Given the description of an element on the screen output the (x, y) to click on. 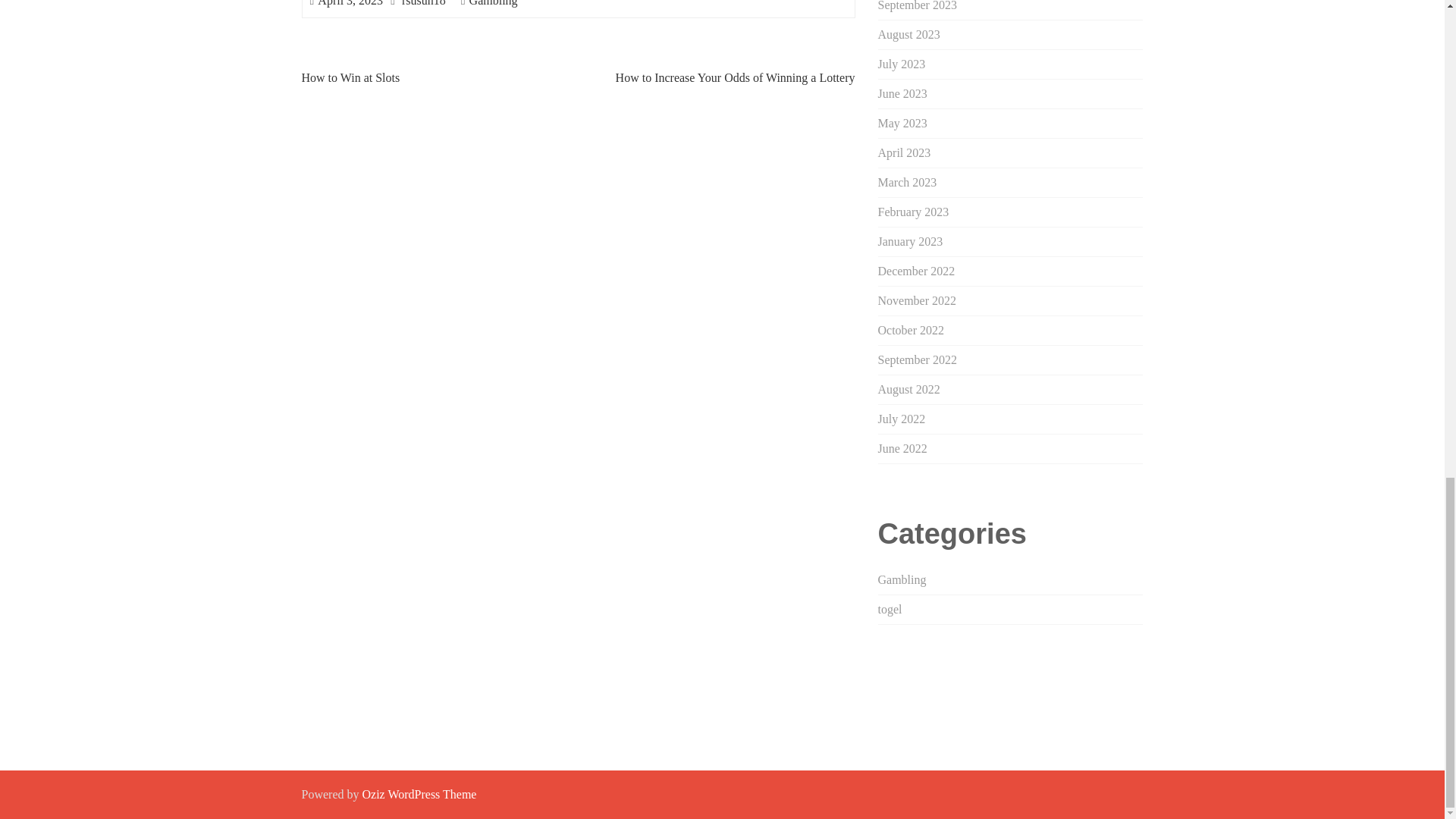
March 2023 (907, 182)
August 2023 (908, 33)
Gambling (493, 3)
October 2022 (910, 329)
September 2022 (916, 359)
April 2023 (904, 152)
How to Win at Slots (350, 77)
How to Increase Your Odds of Winning a Lottery (735, 77)
June 2023 (902, 92)
rsusun18 (423, 3)
